Given the description of an element on the screen output the (x, y) to click on. 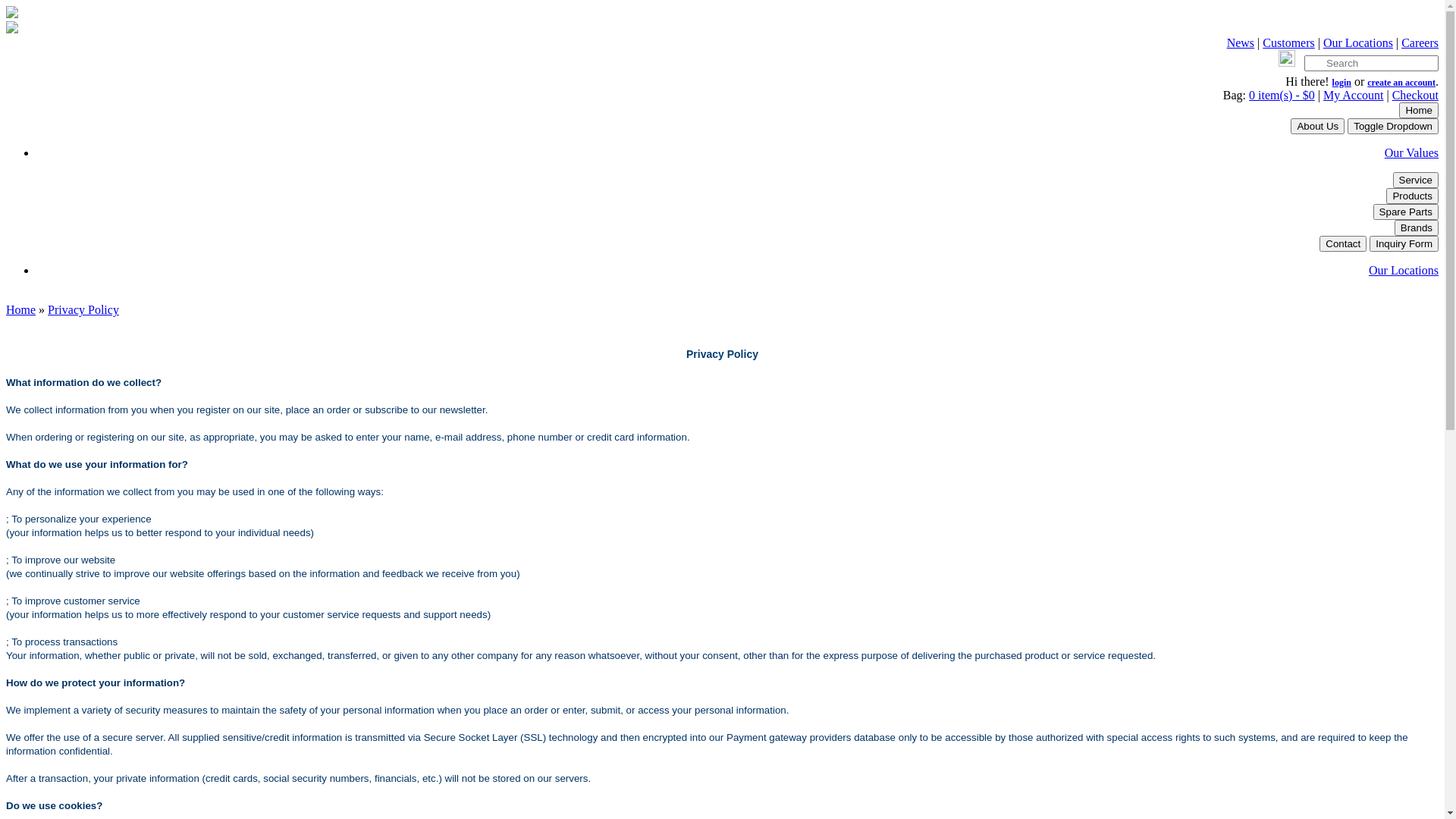
Products Element type: text (1412, 195)
Home Element type: text (1418, 110)
Home Element type: text (20, 309)
Customers Element type: text (1288, 42)
Brands Element type: text (1416, 227)
About Us Element type: text (1317, 126)
My Account Element type: text (1353, 94)
login Element type: text (1341, 82)
Our Values Element type: text (1411, 152)
Spare Parts Element type: text (1405, 211)
Global Food Equipment Element type: hover (12, 13)
Privacy Policy Element type: text (83, 309)
Contact Element type: text (1342, 243)
Our Locations Element type: text (1358, 42)
News Element type: text (1240, 42)
Checkout Element type: text (1415, 94)
create an account Element type: text (1401, 82)
Inquiry Form Element type: text (1403, 243)
Service Element type: text (1415, 180)
Careers Element type: text (1419, 42)
Toggle Dropdown Element type: text (1392, 126)
0 item(s) - $0 Element type: text (1281, 94)
Our Locations Element type: text (1403, 269)
